Given the description of an element on the screen output the (x, y) to click on. 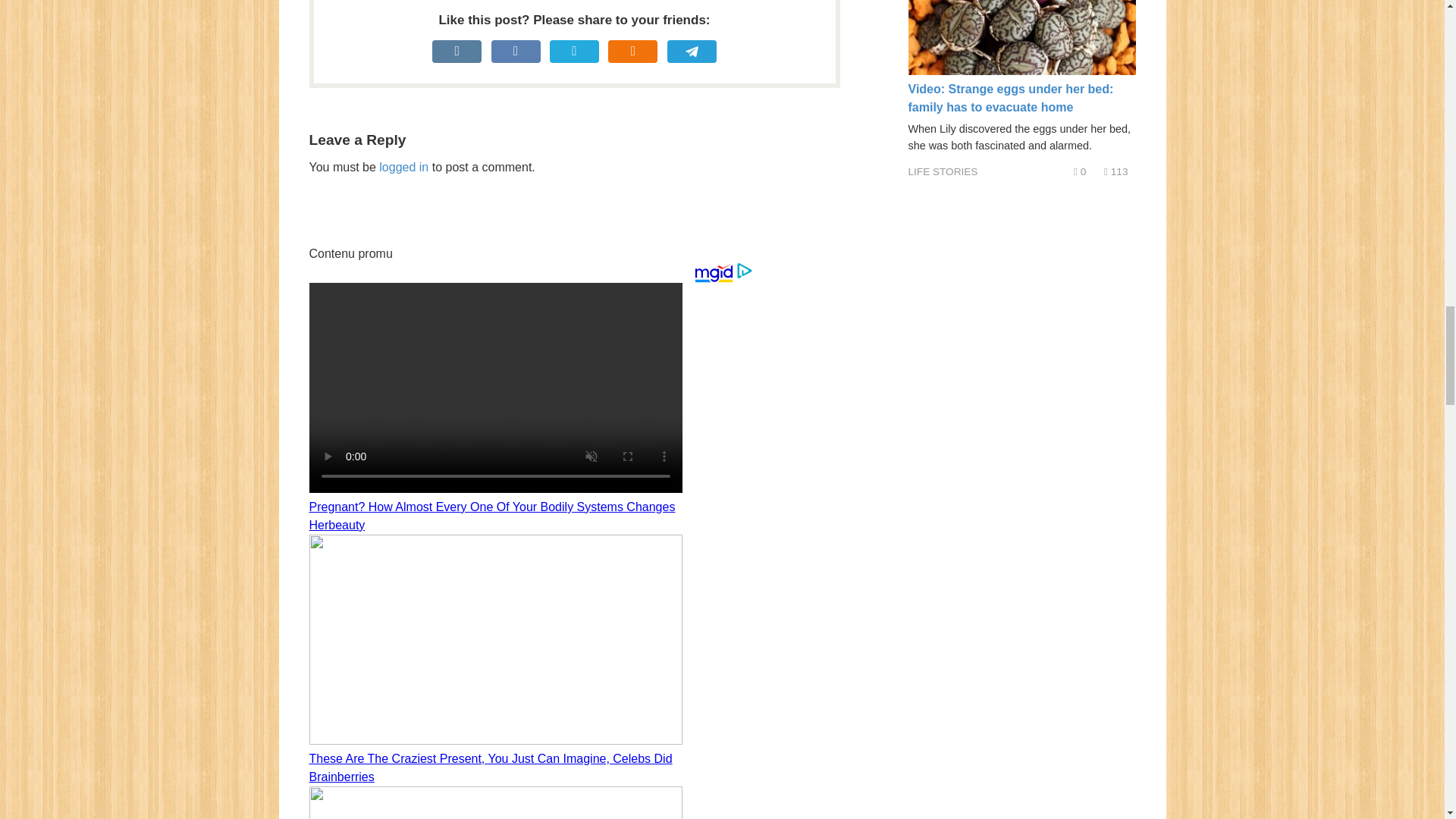
logged in (403, 166)
LIFE STORIES (943, 171)
Comments (1080, 171)
